Given the description of an element on the screen output the (x, y) to click on. 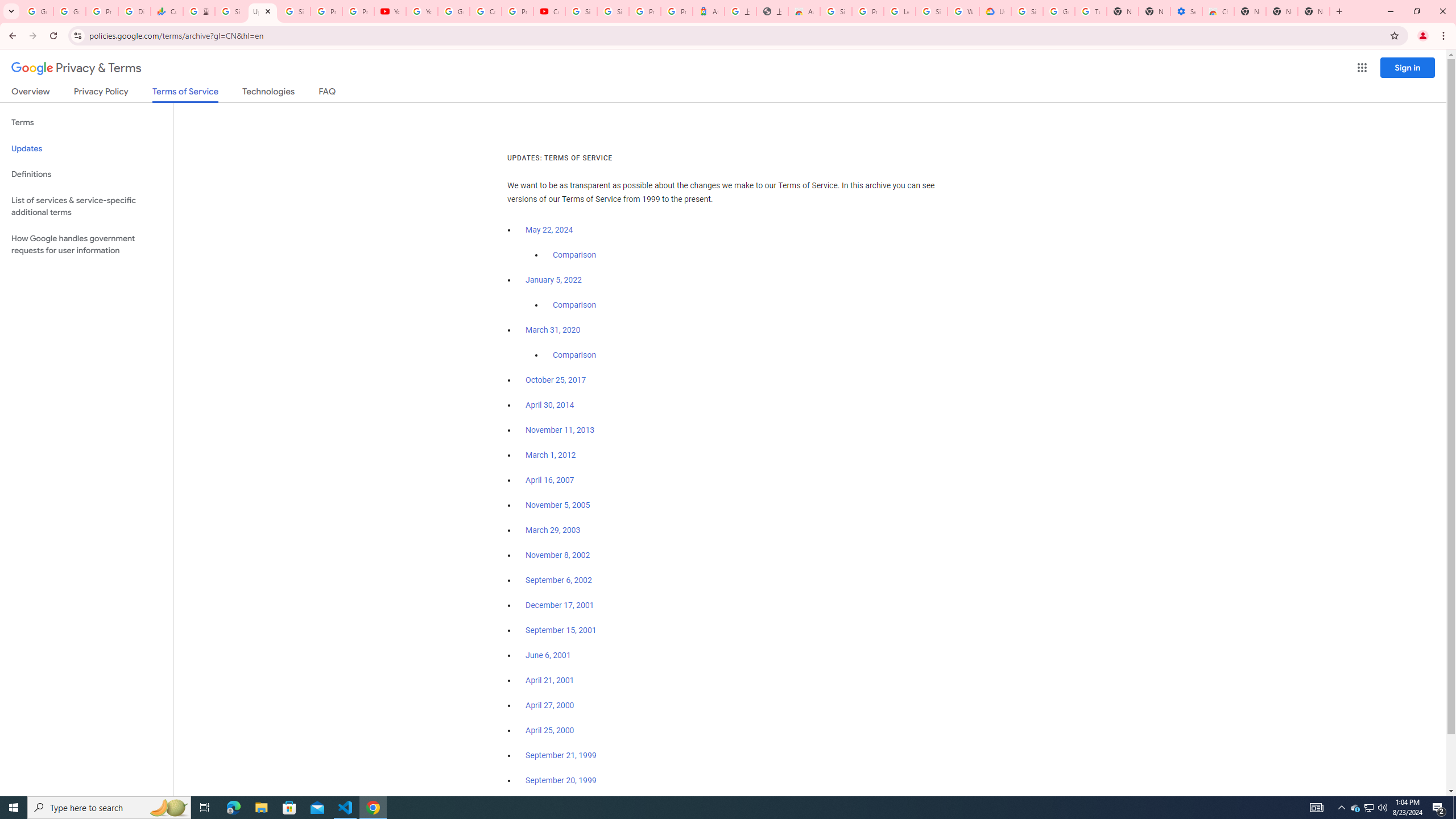
Currencies - Google Finance (166, 11)
May 22, 2024 (549, 230)
September 21, 1999 (560, 755)
January 5, 2022 (553, 280)
YouTube (421, 11)
Content Creator Programs & Opportunities - YouTube Creators (549, 11)
